Given the description of an element on the screen output the (x, y) to click on. 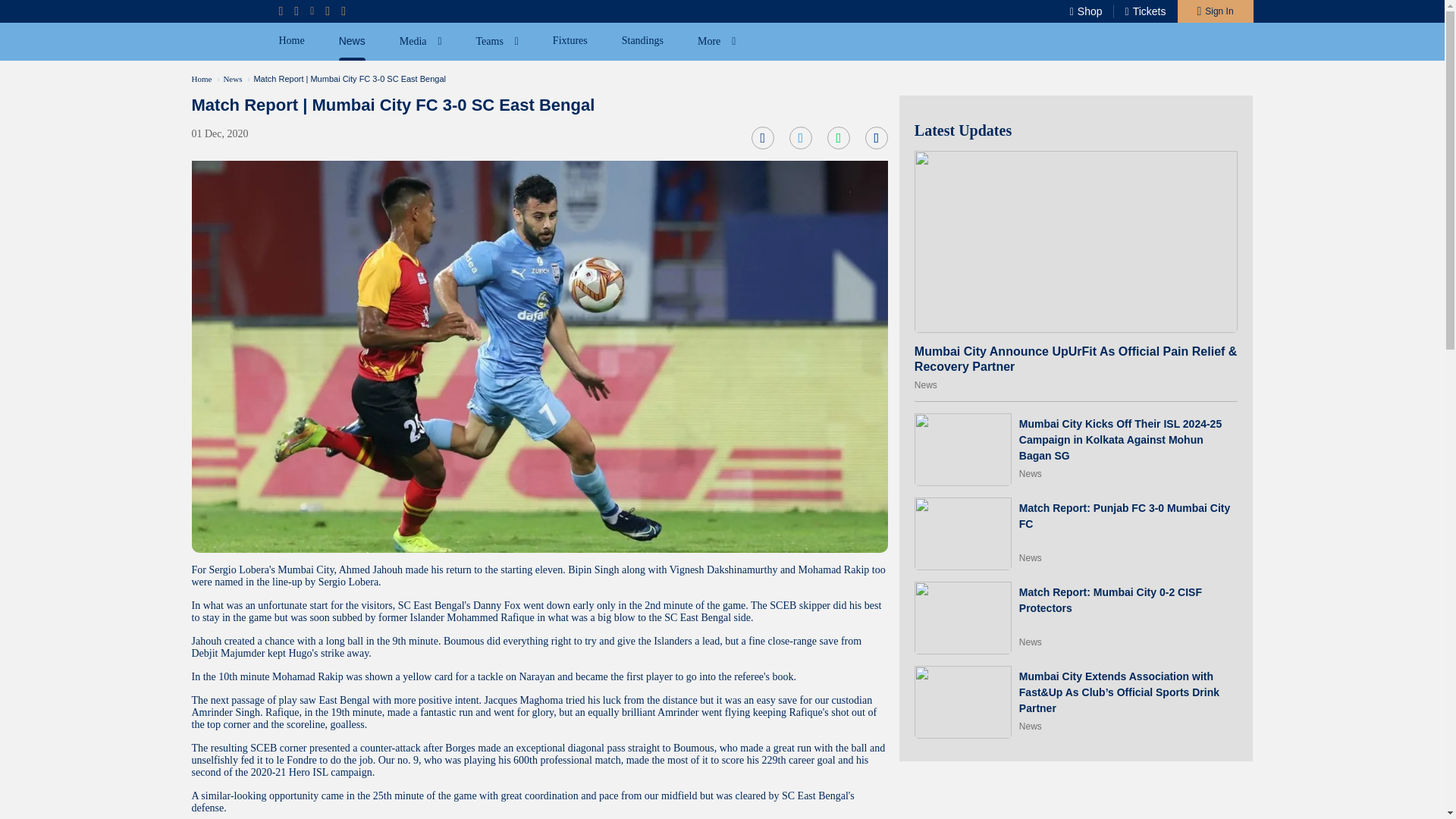
Teams (497, 41)
Share on Twitter (800, 137)
Home (200, 78)
Standings (642, 41)
Fixtures (570, 41)
Standings (642, 41)
Share on WhatsApp (838, 137)
Sign In (1214, 11)
News (925, 385)
Media (420, 41)
